Given the description of an element on the screen output the (x, y) to click on. 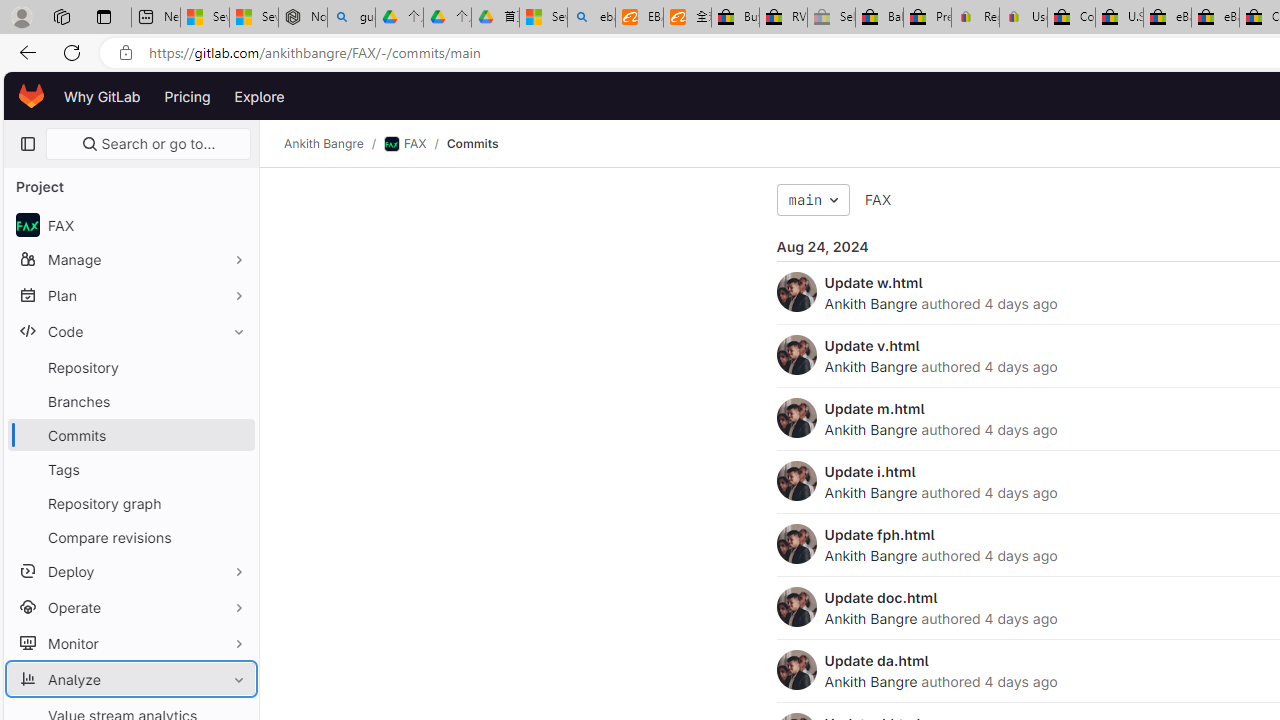
Deploy (130, 570)
